Given the description of an element on the screen output the (x, y) to click on. 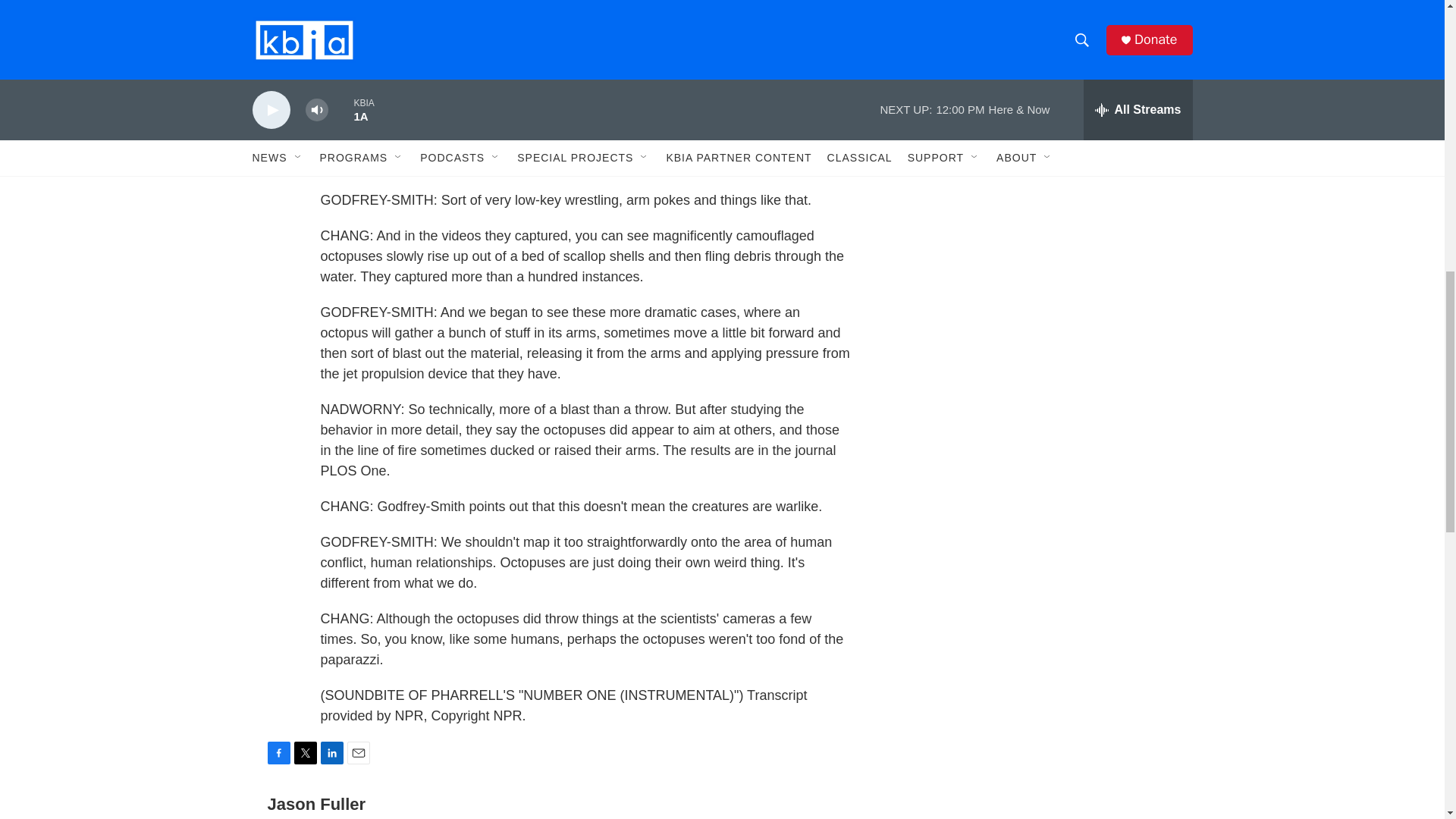
3rd party ad content (1062, 16)
